Given the description of an element on the screen output the (x, y) to click on. 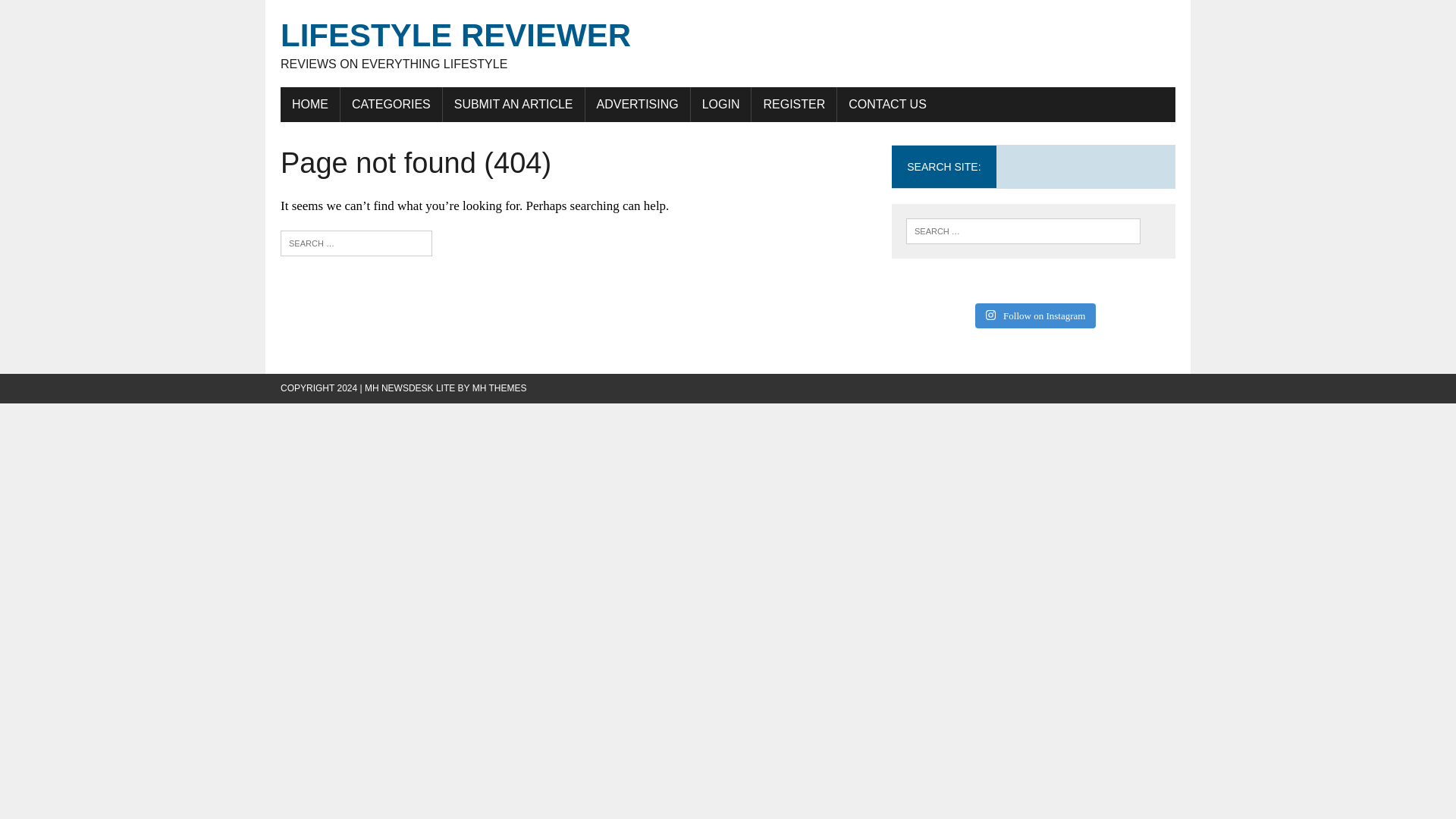
Lifestyle Reviewer (727, 43)
HOME (727, 43)
CATEGORIES (310, 104)
